Given the description of an element on the screen output the (x, y) to click on. 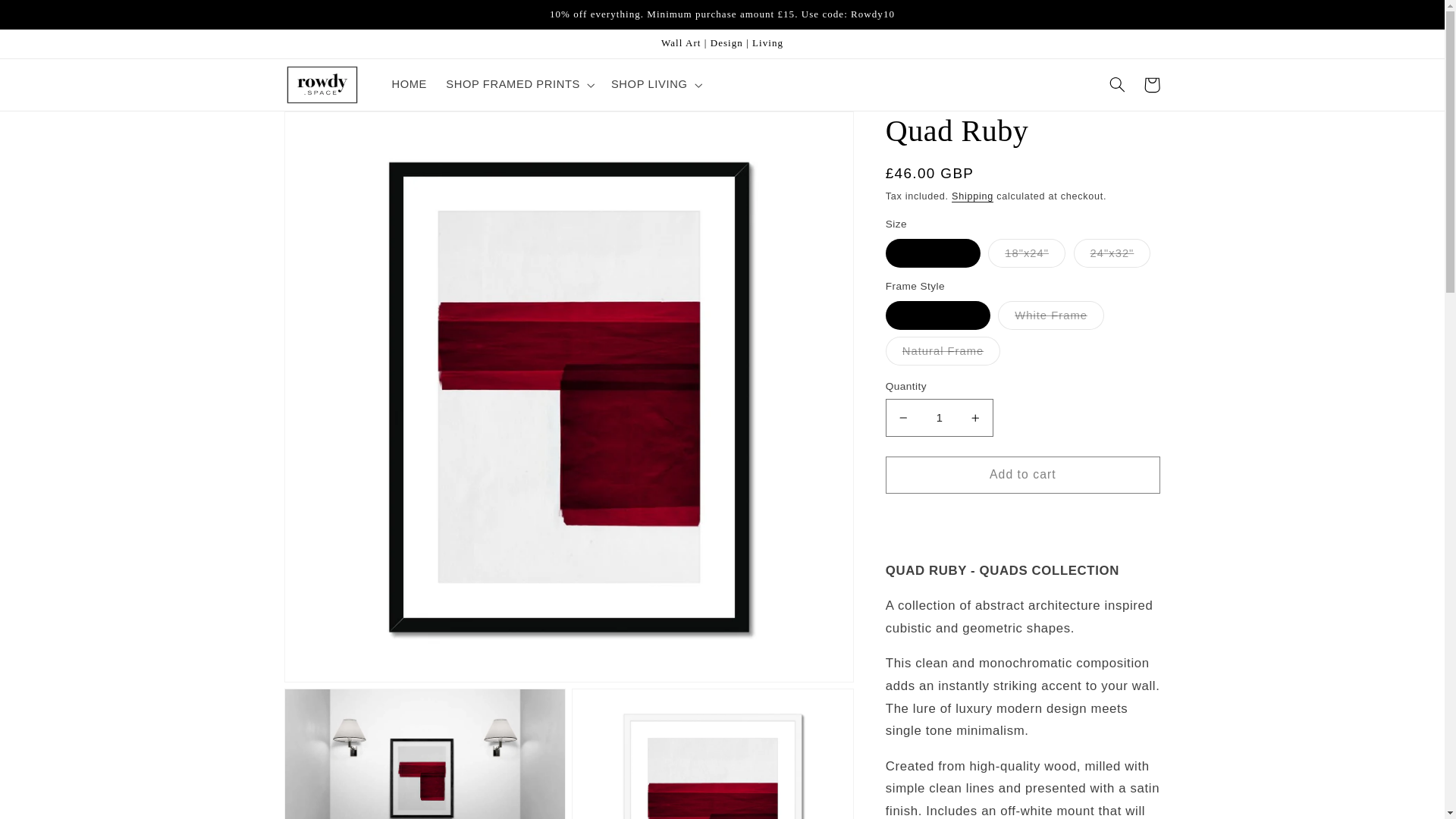
HOME (408, 84)
Cart (1151, 84)
Skip to content (48, 18)
1 (939, 416)
